Given the description of an element on the screen output the (x, y) to click on. 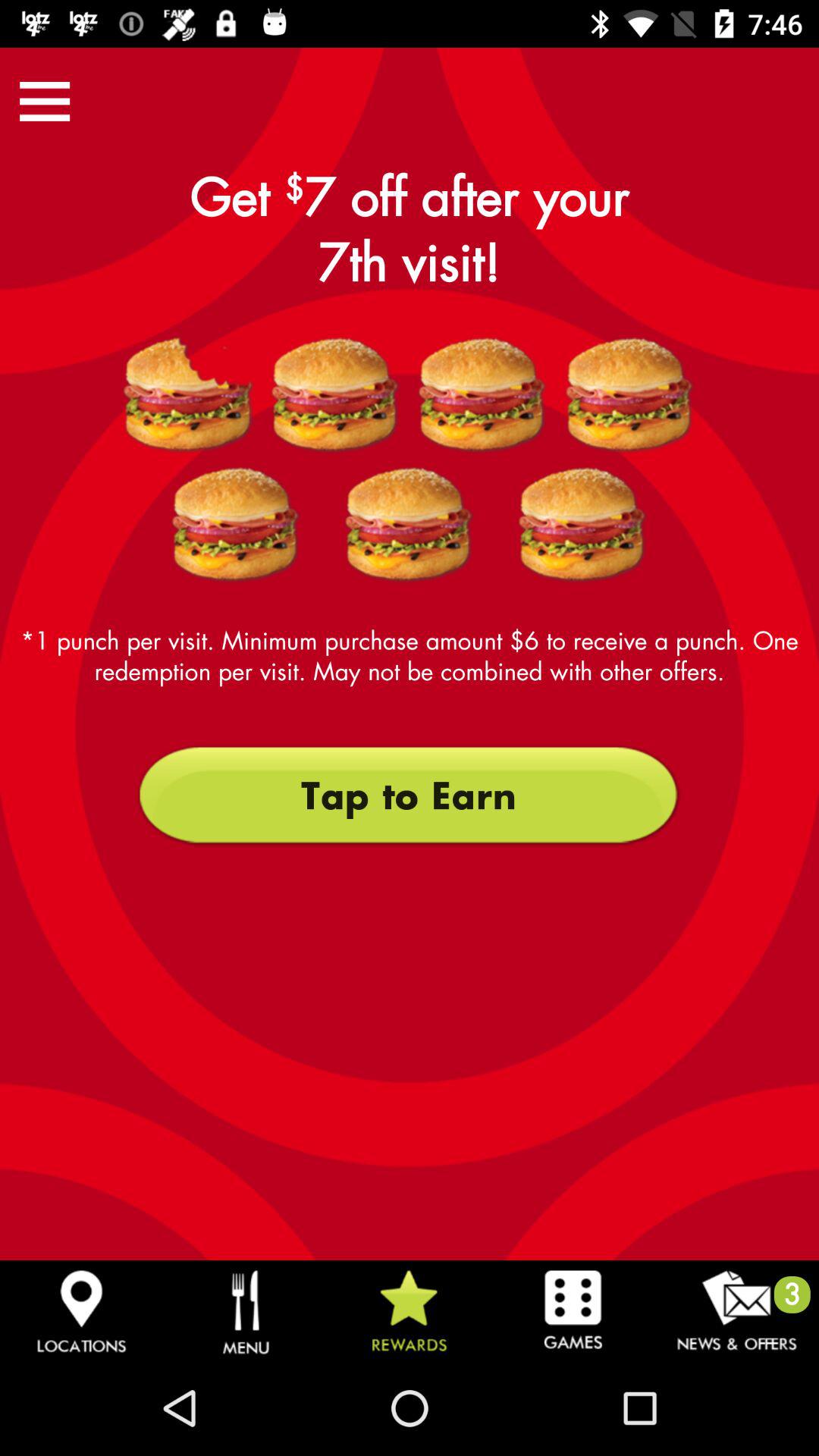
tap to connect to schlotzskys and earn rewards (188, 395)
